Given the description of an element on the screen output the (x, y) to click on. 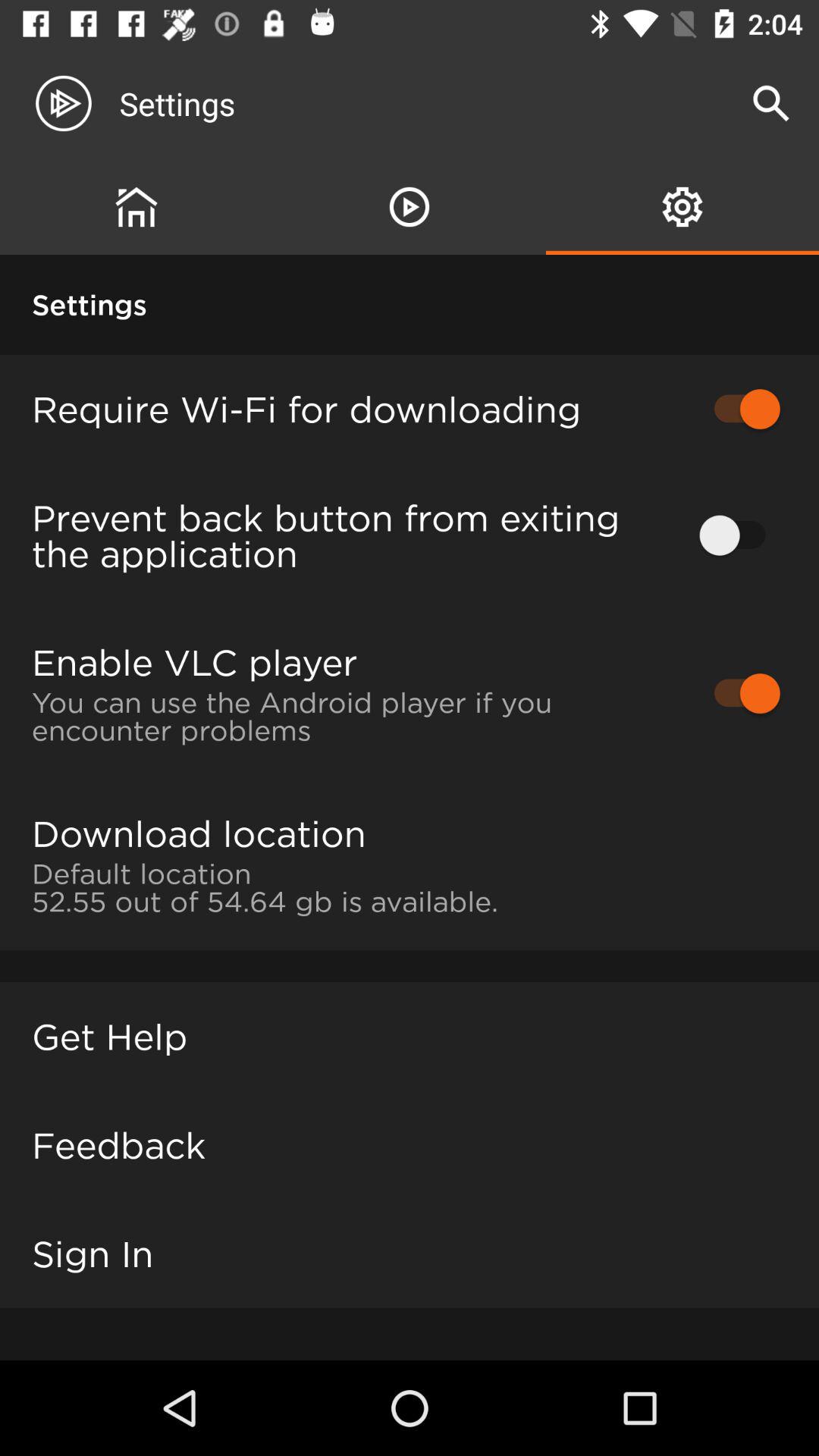
click item to the right of the require wi fi item (739, 409)
